Given the description of an element on the screen output the (x, y) to click on. 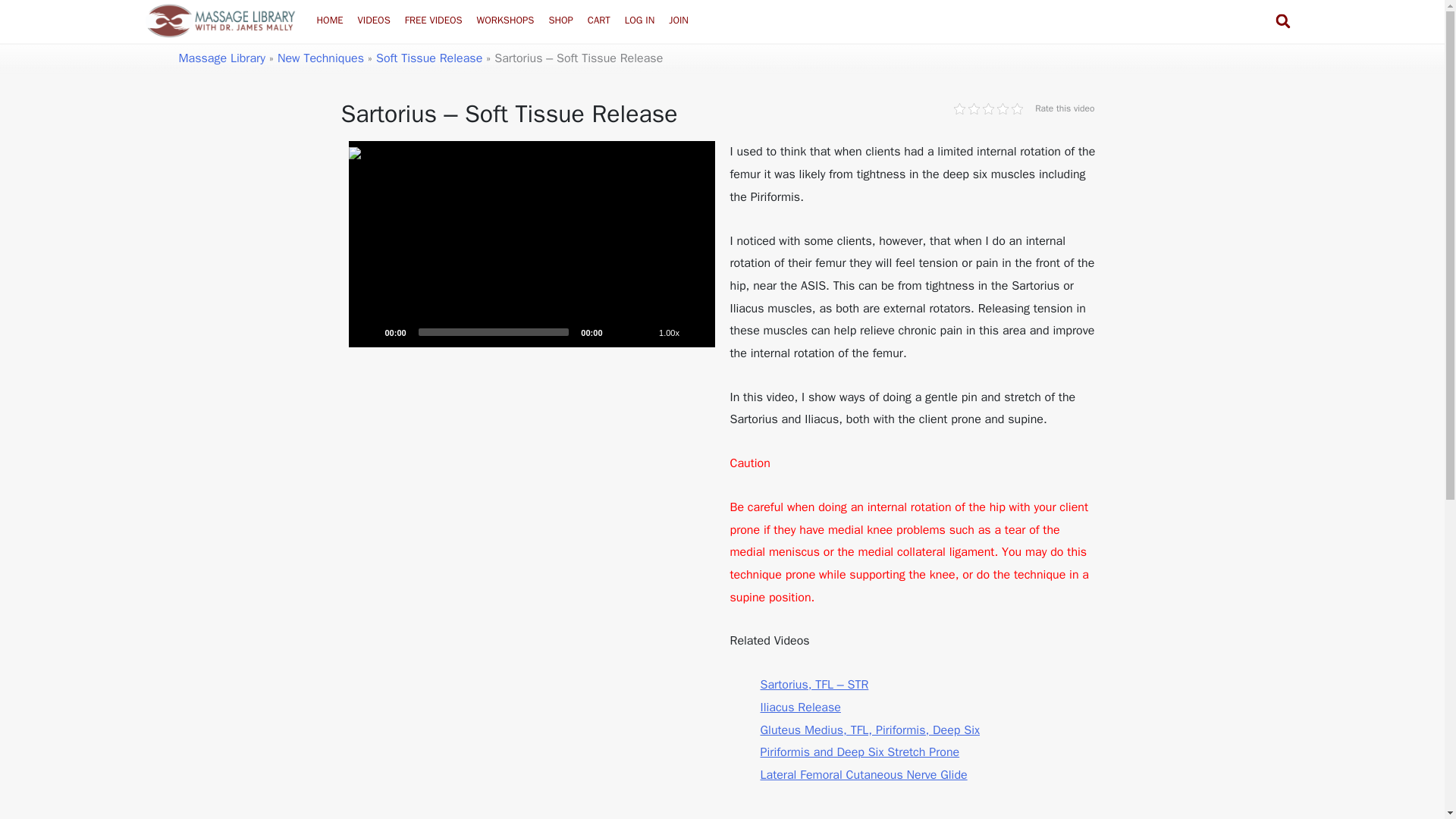
Massage Library (221, 58)
HOME (329, 20)
Massage Library with Dr. James Mally (219, 20)
CART (598, 20)
New Techniques (321, 58)
Toggle Loop (642, 331)
FREE VIDEOS (432, 20)
Fullscreen (694, 331)
JOIN (678, 20)
Soft Tissue Release (428, 58)
WORKSHOPS (505, 20)
Mute (618, 331)
LOG IN (639, 20)
Speed Rate (668, 332)
SHOP (560, 20)
